Given the description of an element on the screen output the (x, y) to click on. 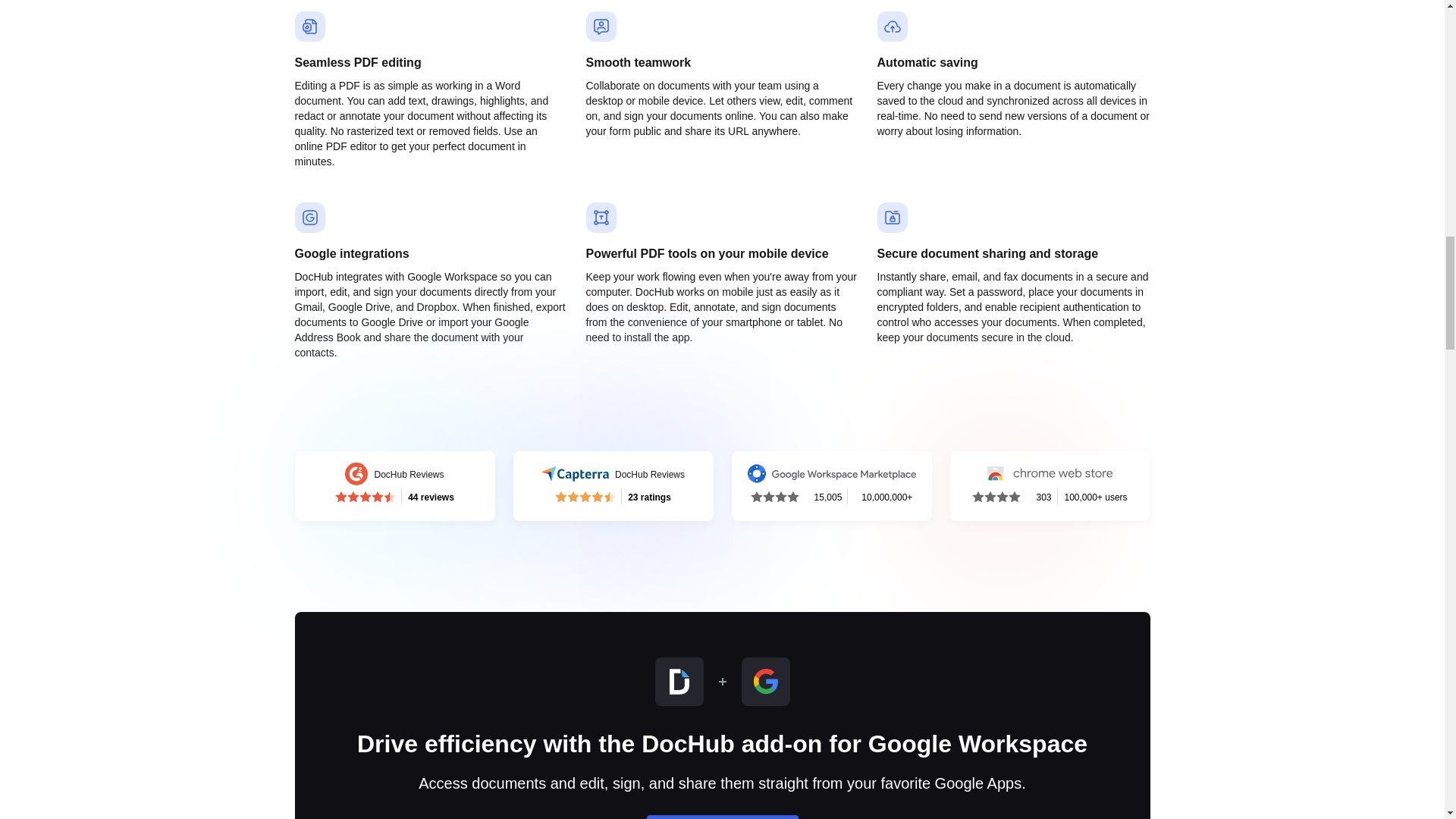
Install now (394, 485)
